Given the description of an element on the screen output the (x, y) to click on. 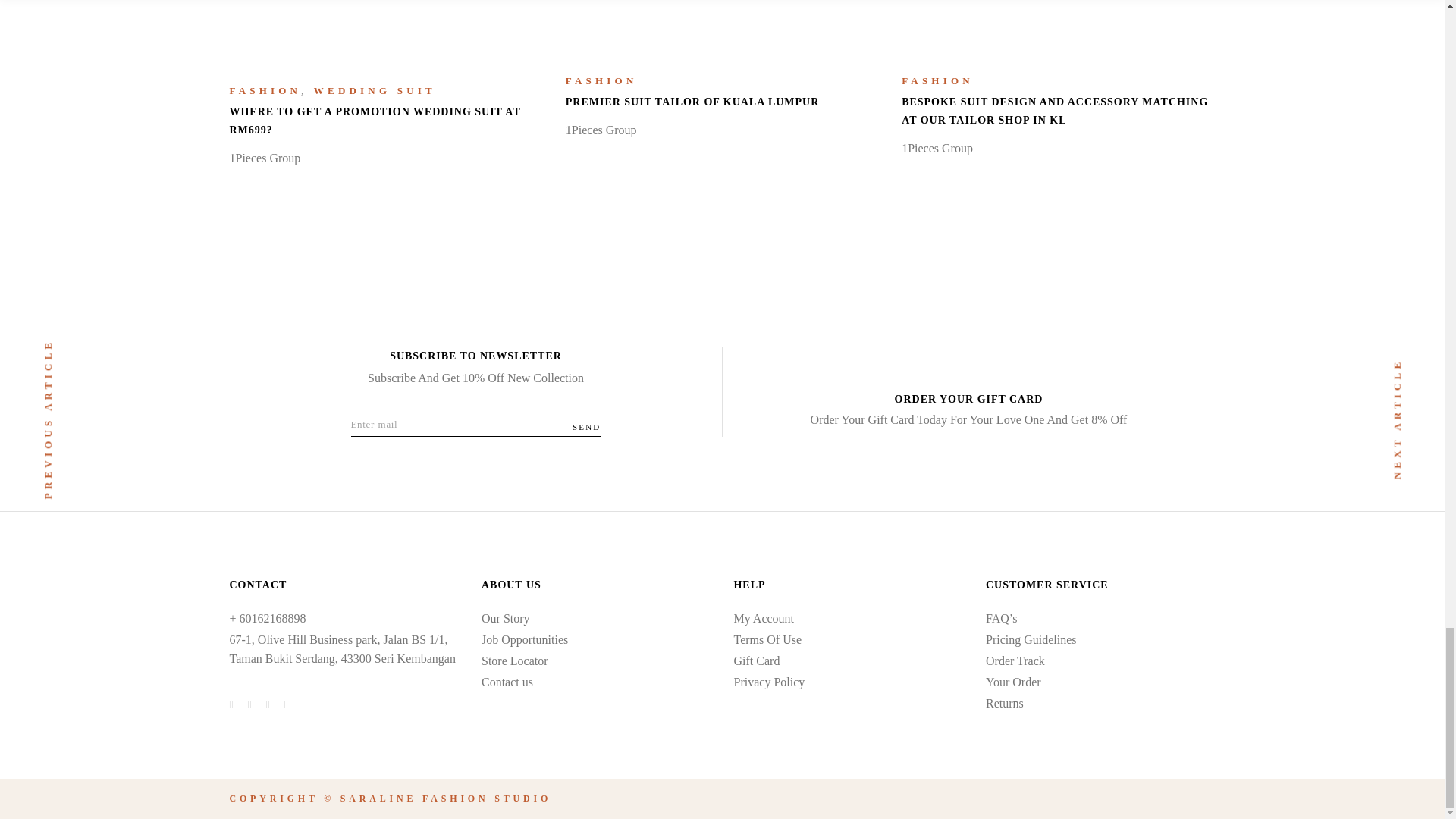
Where To Get A Promotion Wedding Suit At RM699? (373, 120)
Premier Suit Tailor of Kuala Lumpur (692, 101)
Premier Suit Tailor of Kuala Lumpur (722, 26)
Where To Get A Promotion Wedding Suit At RM699? 2 (377, 26)
Where To Get A Promotion Wedding Suit At RM699? (384, 31)
Premier Suit Tailor of Kuala Lumpur 3 (712, 21)
